Given the description of an element on the screen output the (x, y) to click on. 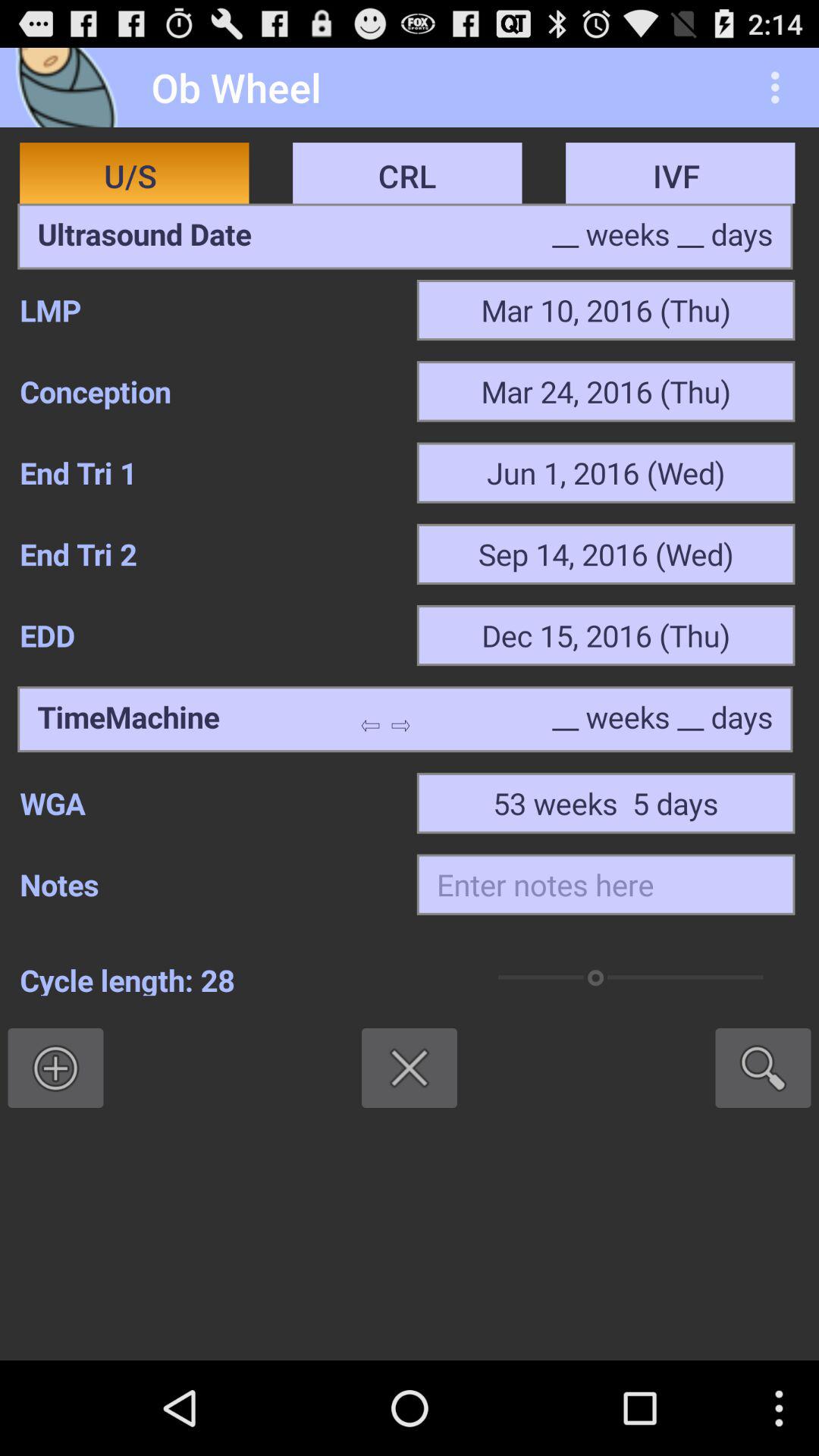
jump until the cycle length: 28 item (233, 977)
